Given the description of an element on the screen output the (x, y) to click on. 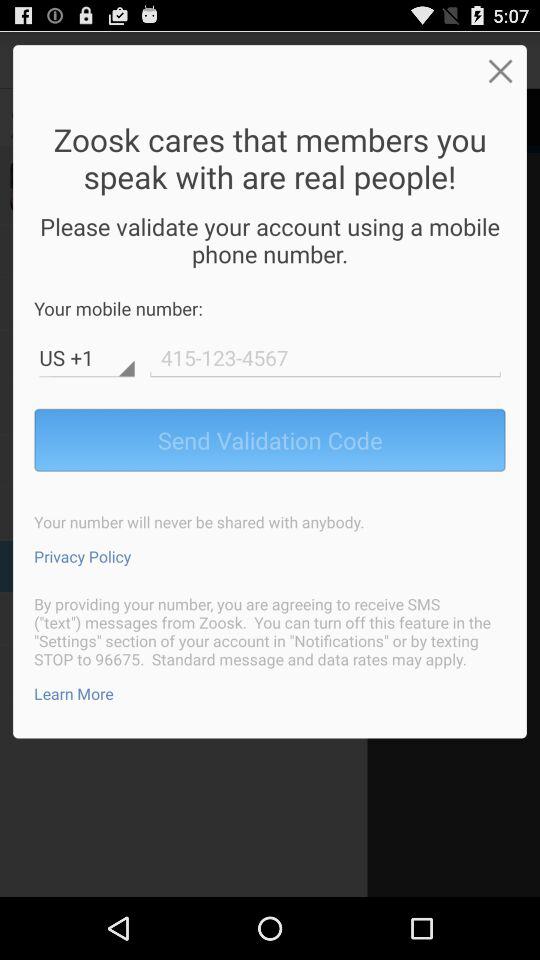
input phone number (325, 357)
